Given the description of an element on the screen output the (x, y) to click on. 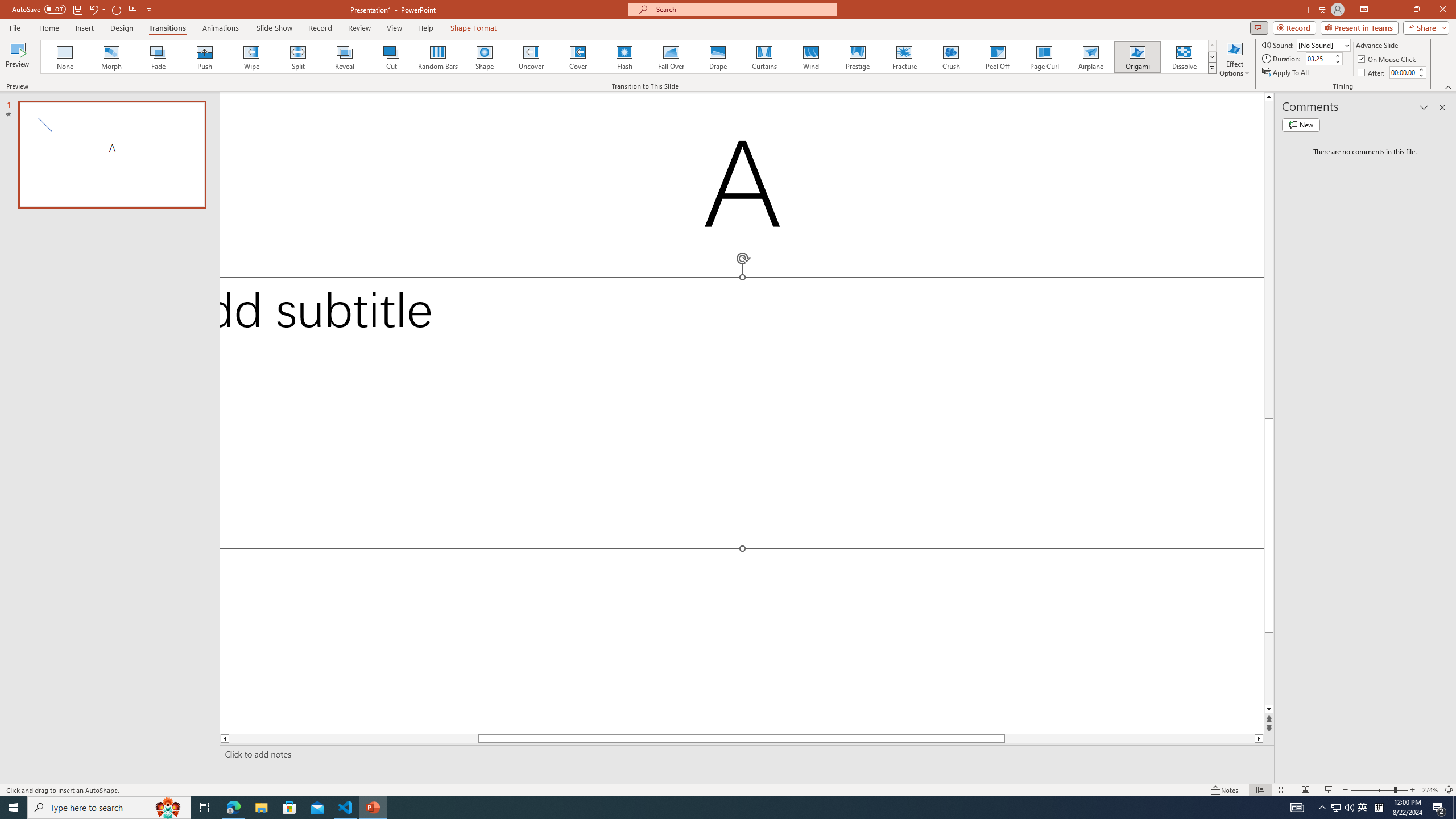
Duration (1319, 58)
Split (298, 56)
Fall Over (670, 56)
Wipe (251, 56)
Crush (950, 56)
